Given the description of an element on the screen output the (x, y) to click on. 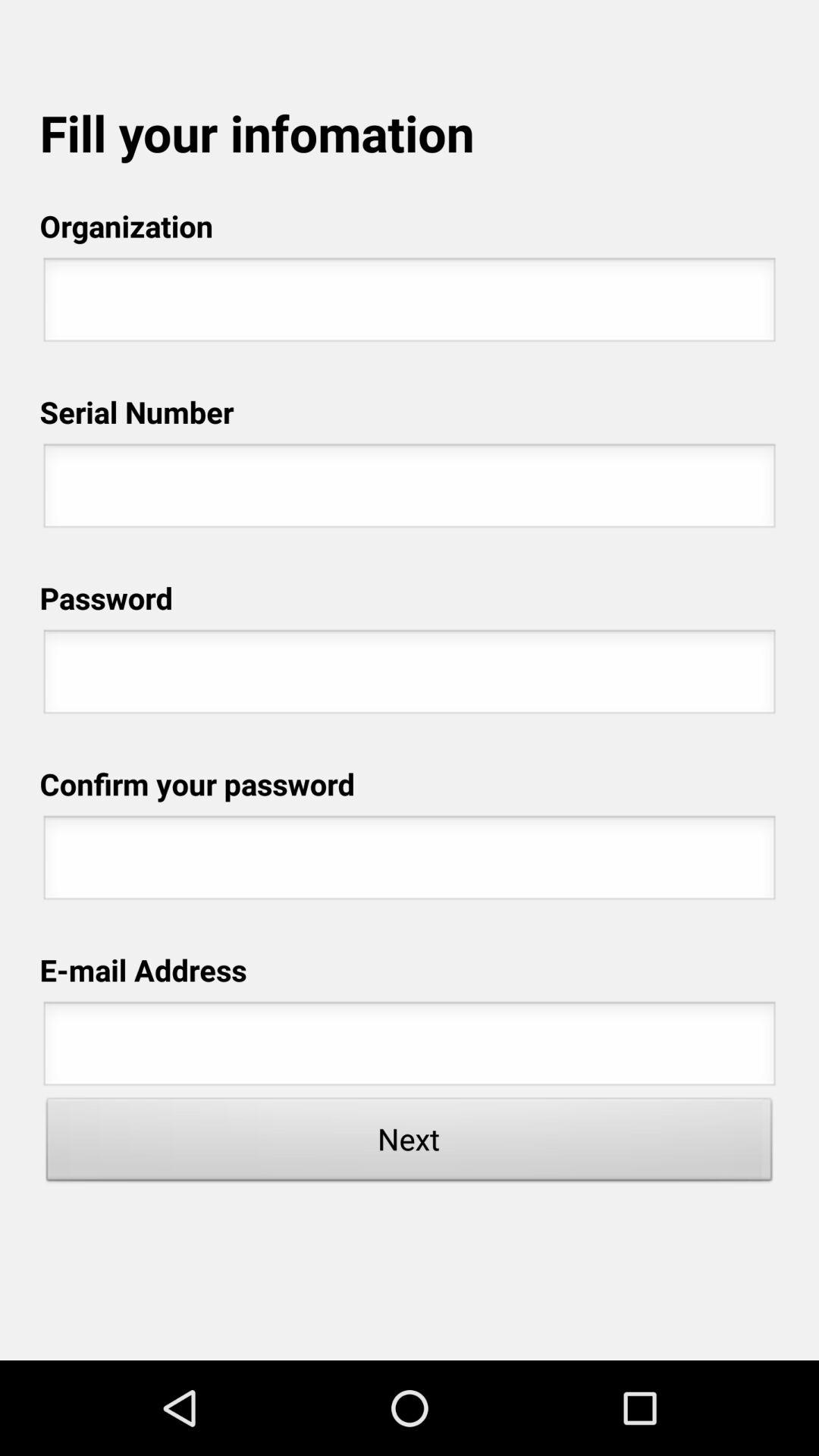
enter your serial number (409, 490)
